Given the description of an element on the screen output the (x, y) to click on. 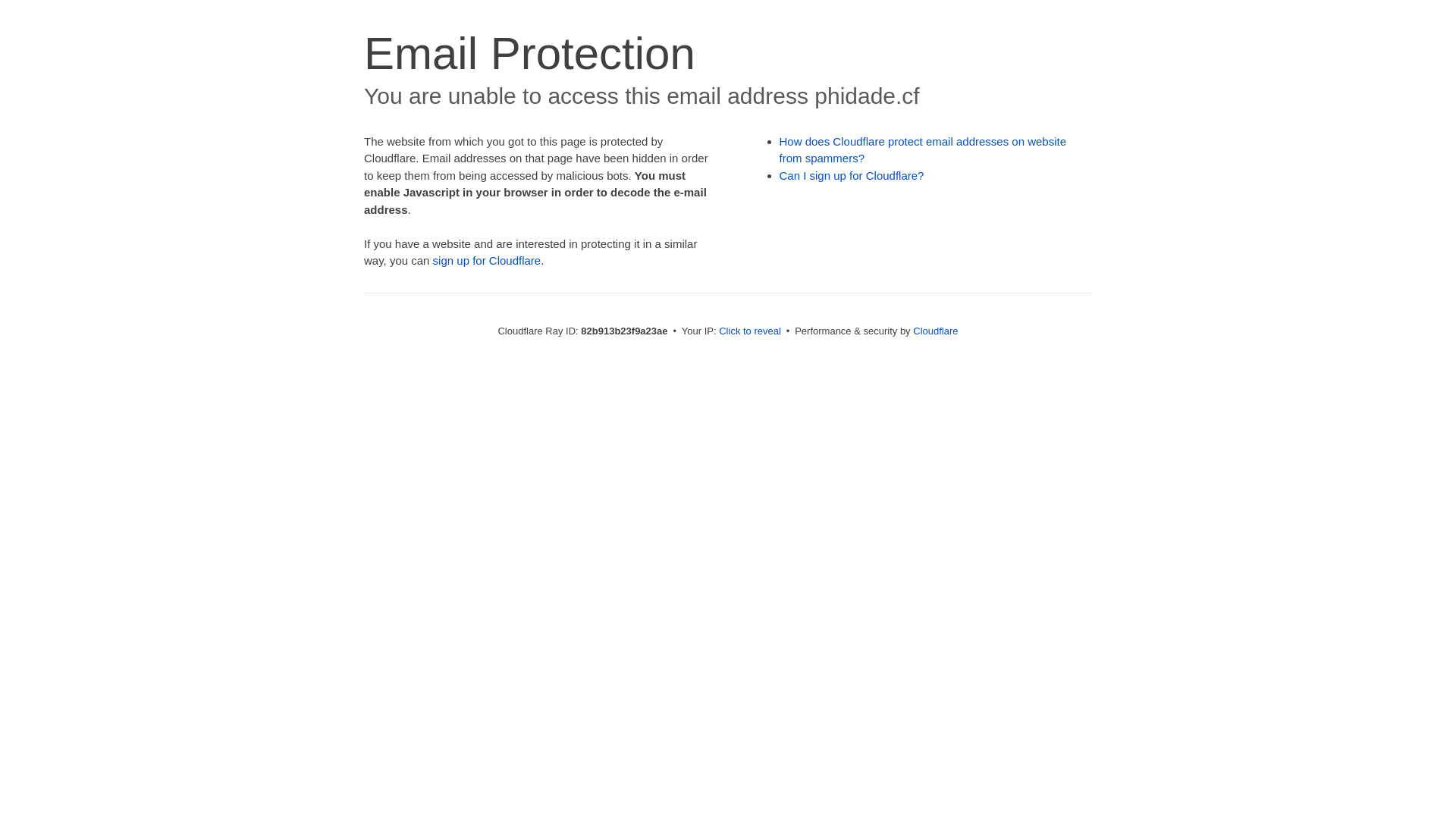
Can I sign up for Cloudflare? Element type: text (851, 175)
Click to reveal Element type: text (749, 330)
sign up for Cloudflare Element type: text (487, 260)
Cloudflare Element type: text (935, 330)
